Given the description of an element on the screen output the (x, y) to click on. 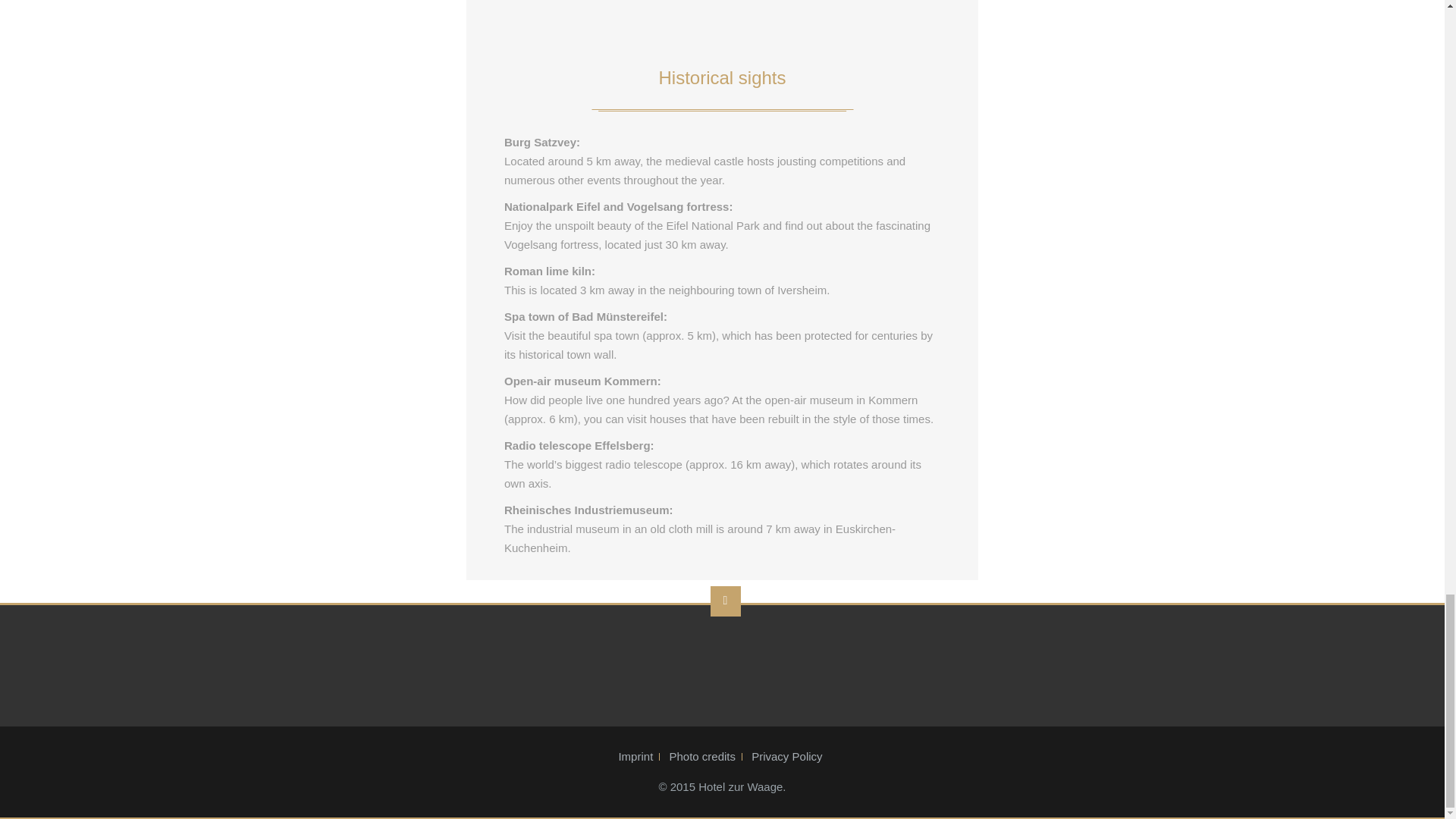
Imprint (635, 756)
Privacy Policy (786, 756)
Photo credits (702, 756)
